Given the description of an element on the screen output the (x, y) to click on. 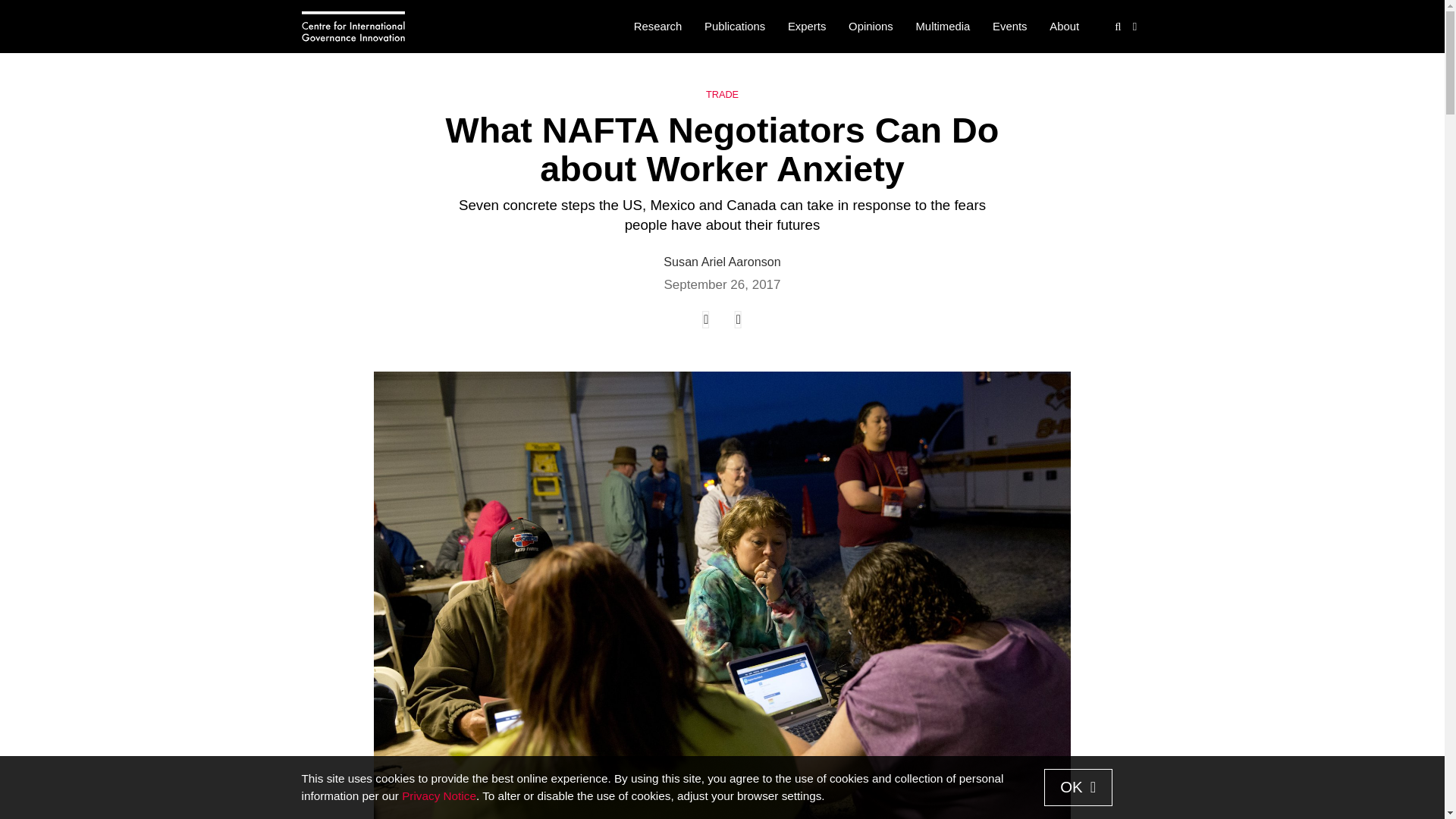
Publications (734, 27)
Experts (806, 27)
Research (658, 27)
Events (1009, 27)
Opinions (870, 27)
About (1064, 27)
Multimedia (942, 27)
